Given the description of an element on the screen output the (x, y) to click on. 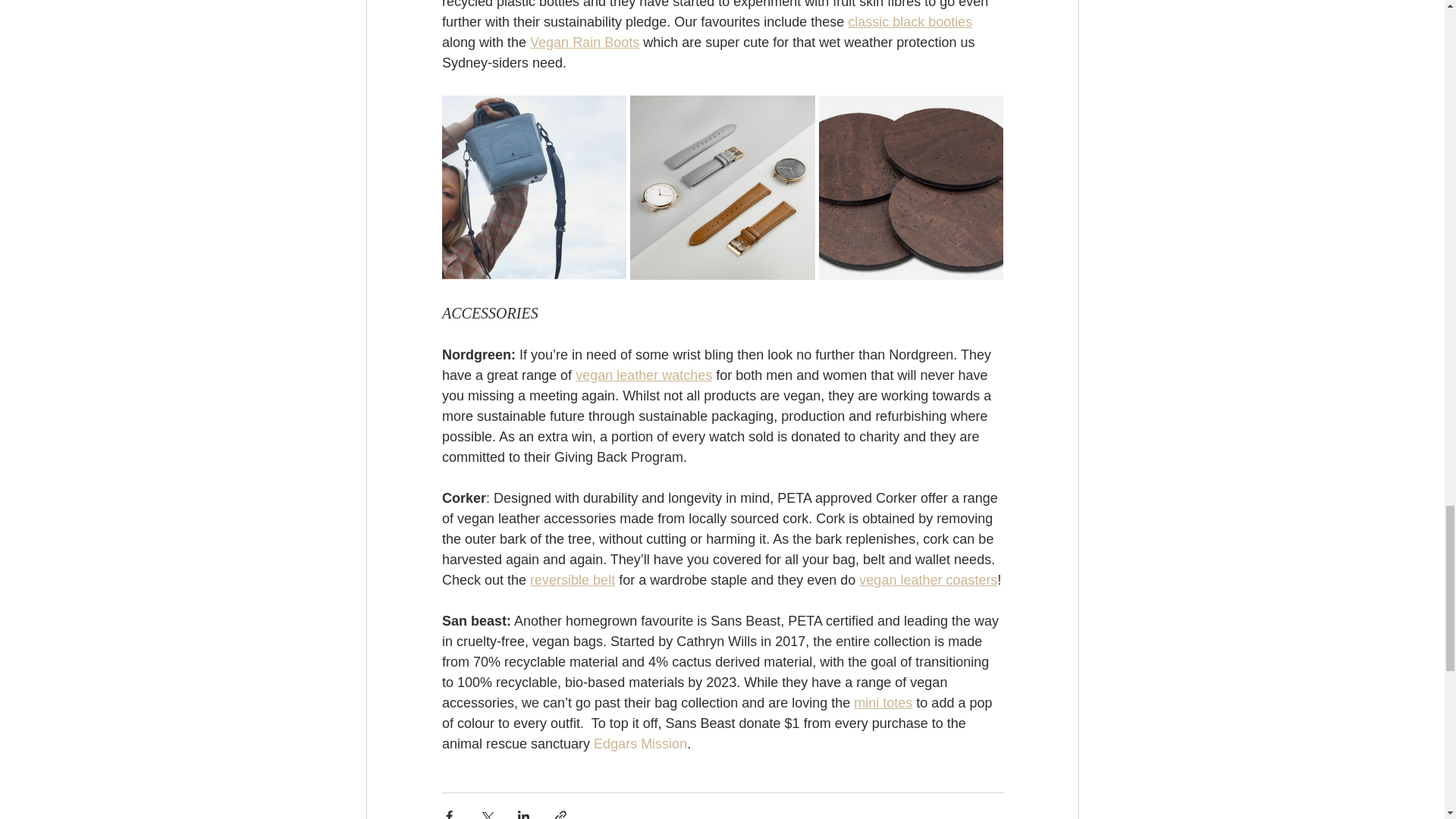
vegan leather coasters (928, 580)
mini totes (882, 702)
classic black booties (909, 21)
Edgars Mission (640, 743)
reversible belt (571, 580)
vegan leather watches (643, 375)
Vegan Rain Boots (584, 42)
